Given the description of an element on the screen output the (x, y) to click on. 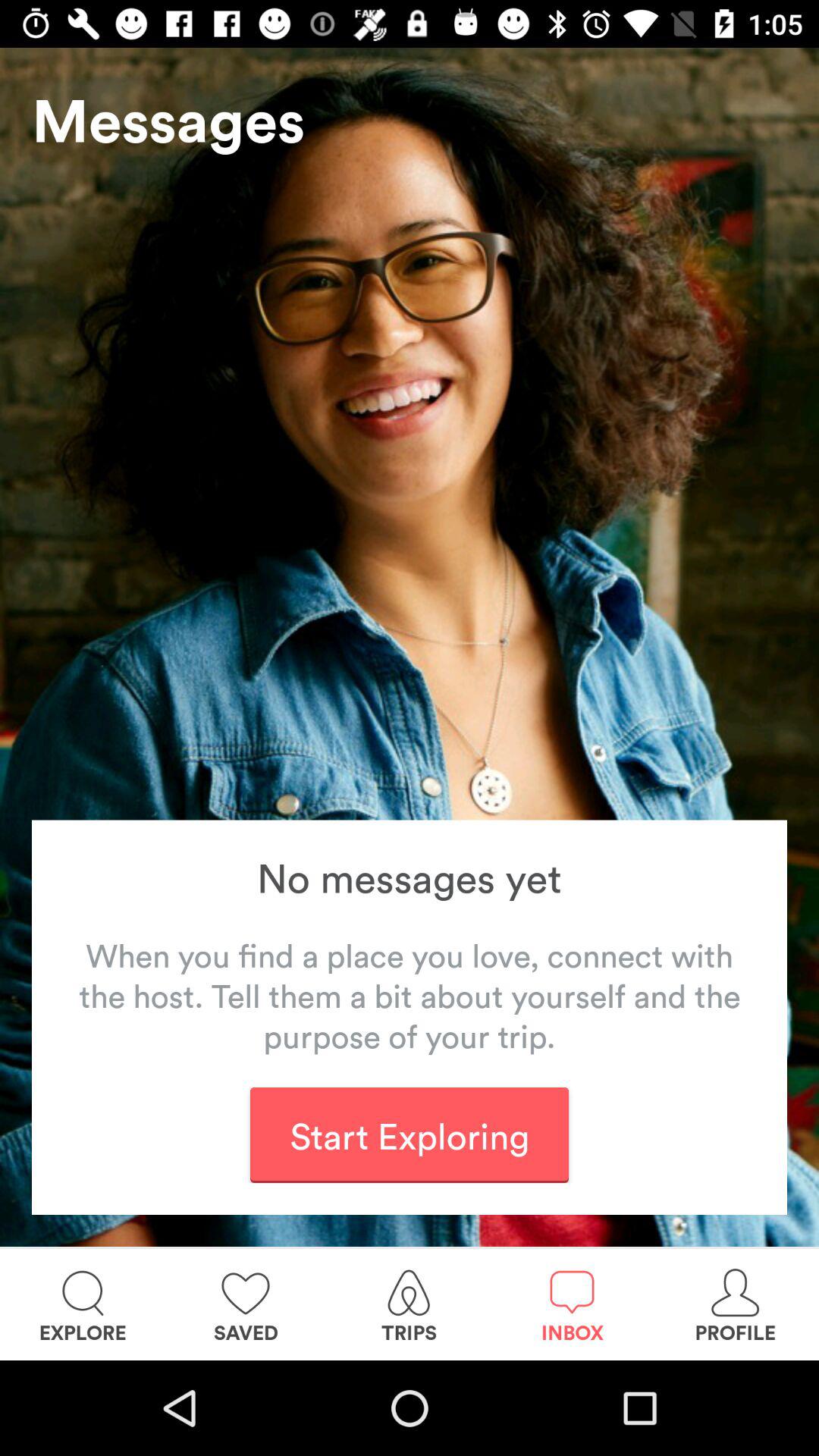
flip until start exploring icon (409, 1135)
